Given the description of an element on the screen output the (x, y) to click on. 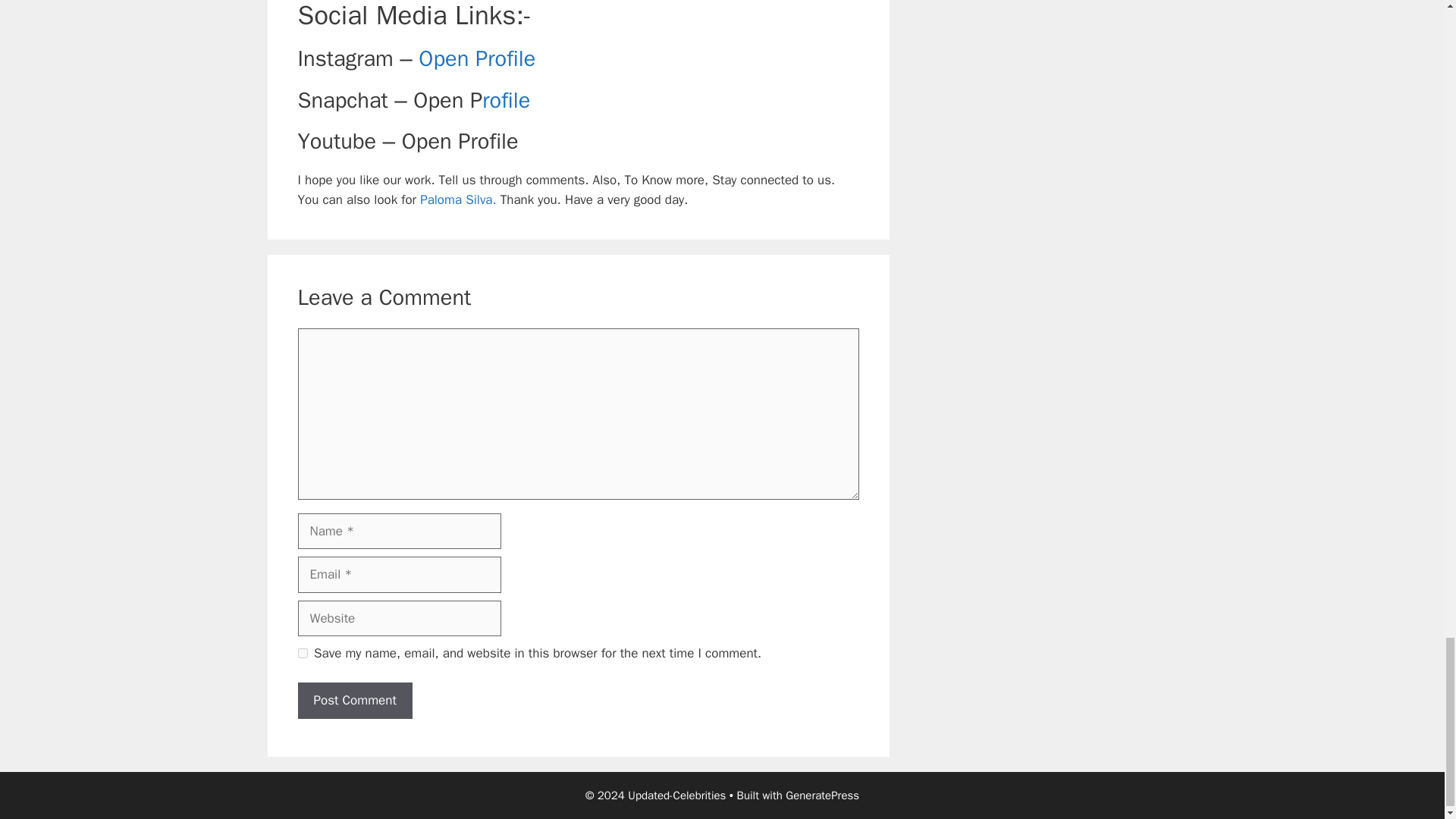
Post Comment (354, 700)
Paloma Silva. (456, 199)
Open Profile (477, 58)
rofile (505, 100)
Post Comment (354, 700)
yes (302, 653)
